Given the description of an element on the screen output the (x, y) to click on. 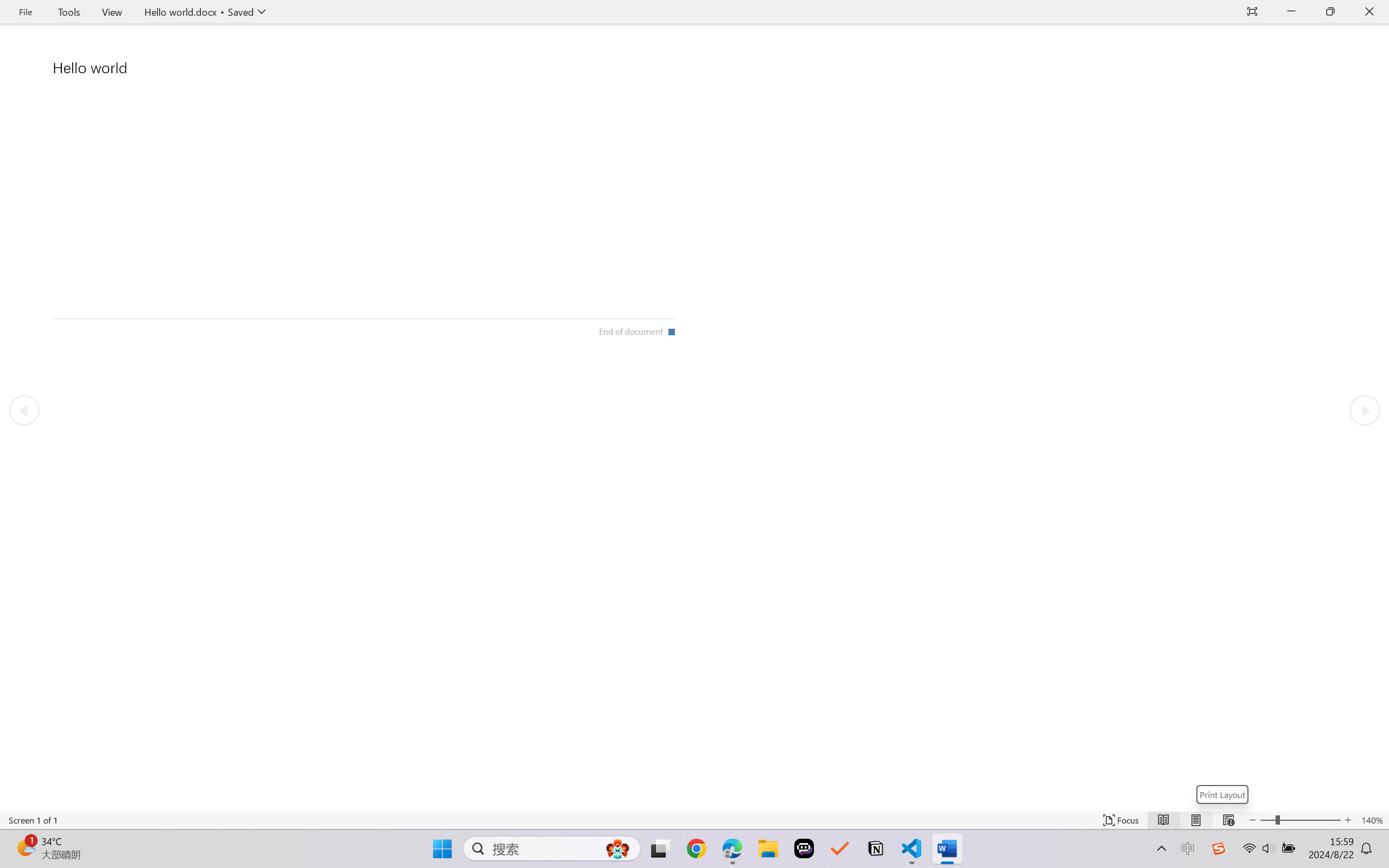
Close (1369, 11)
Increase Text Size (1348, 819)
Text Size (1300, 819)
Class: NetUIScrollBar (694, 803)
Focus  (1121, 819)
Class: Image (1218, 847)
Restore Down (1330, 11)
Auto-hide Reading Toolbar (1252, 11)
AutomationID: BadgeAnchorLargeTicker (24, 847)
File Tab (24, 11)
